Given the description of an element on the screen output the (x, y) to click on. 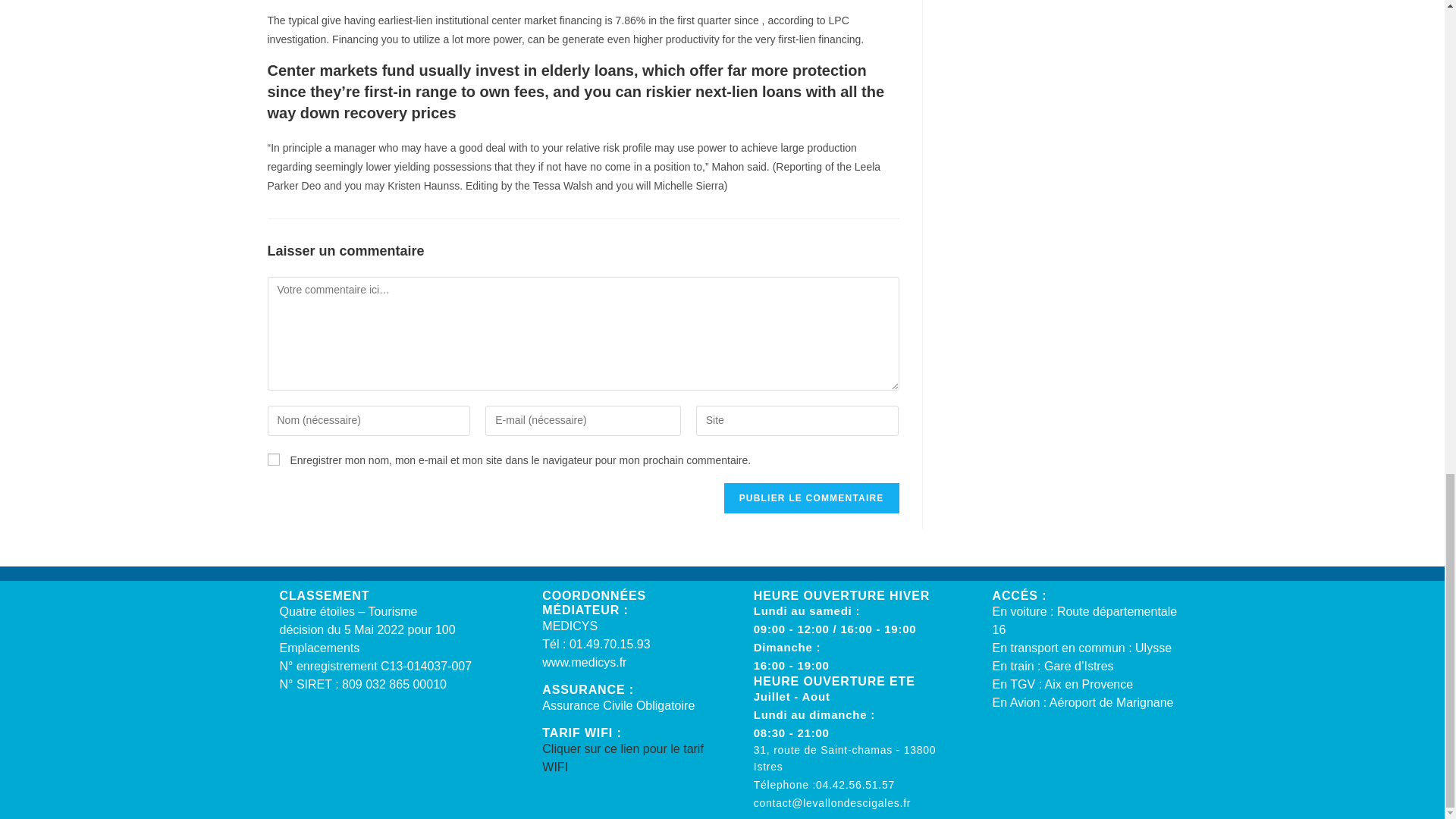
Publier le commentaire (811, 498)
yes (272, 459)
Cliquer sur ce lien pour le tarif WIFI (622, 757)
Publier le commentaire (811, 498)
